Given the description of an element on the screen output the (x, y) to click on. 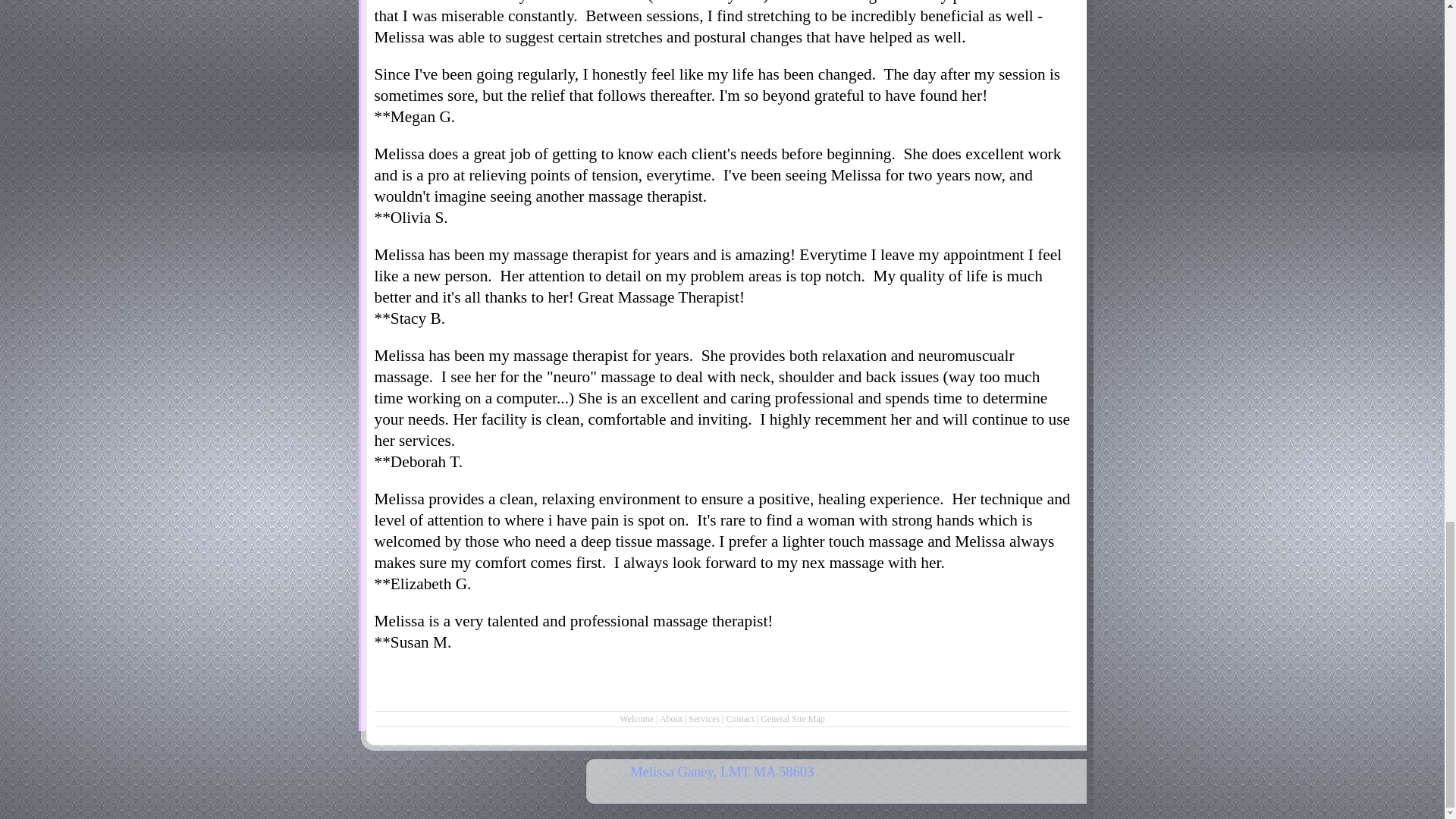
Contact (739, 718)
Services (703, 718)
General Site Map (792, 718)
Welcome (636, 718)
About (670, 718)
